Given the description of an element on the screen output the (x, y) to click on. 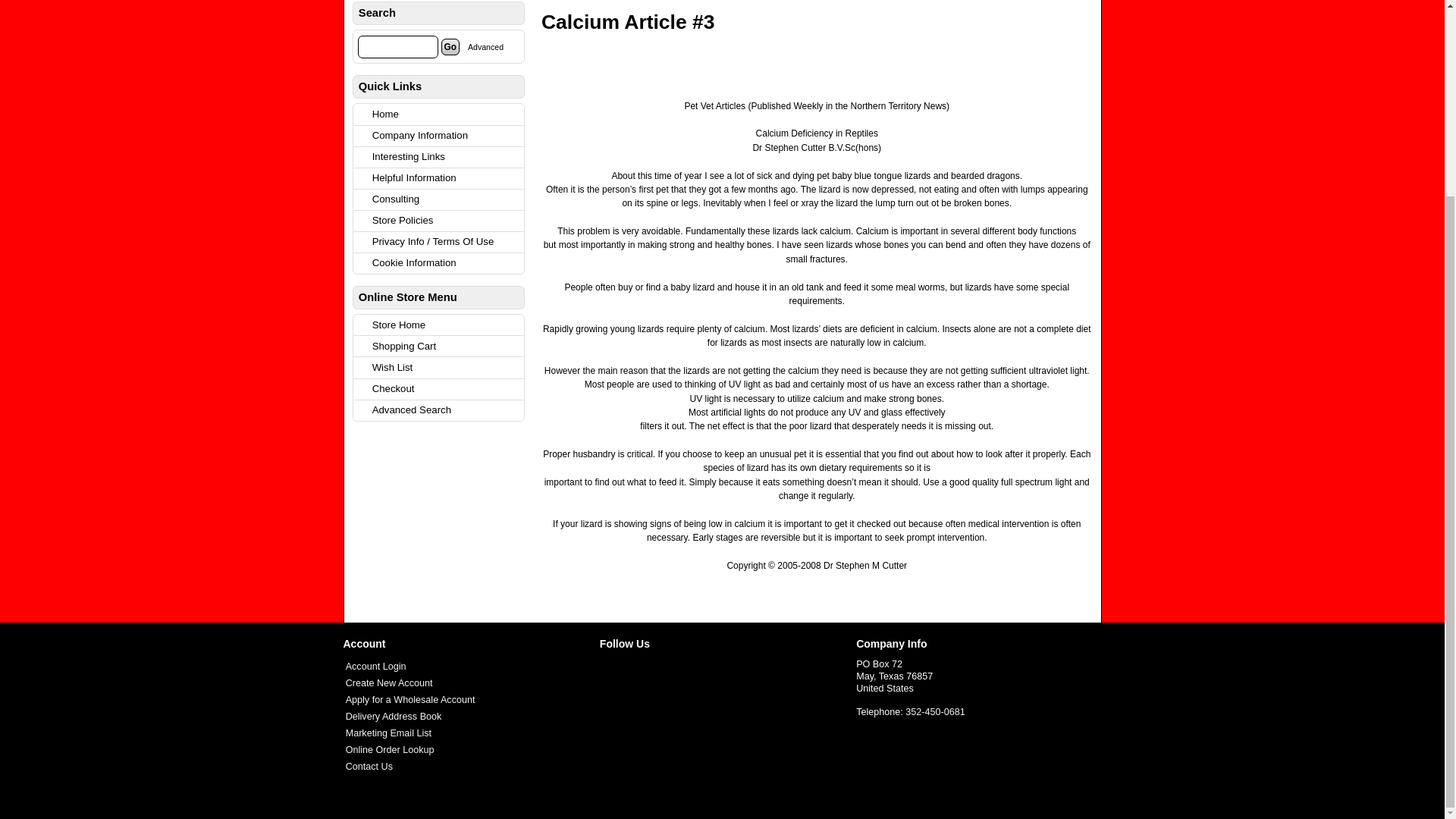
Advanced Search (446, 410)
Home (446, 114)
Store Home (446, 324)
Interesting Links (446, 157)
Advanced (485, 46)
Wish List (446, 367)
Checkout (446, 389)
Consulting (446, 199)
Advanced Search (485, 46)
Cookie Information (446, 263)
